Given the description of an element on the screen output the (x, y) to click on. 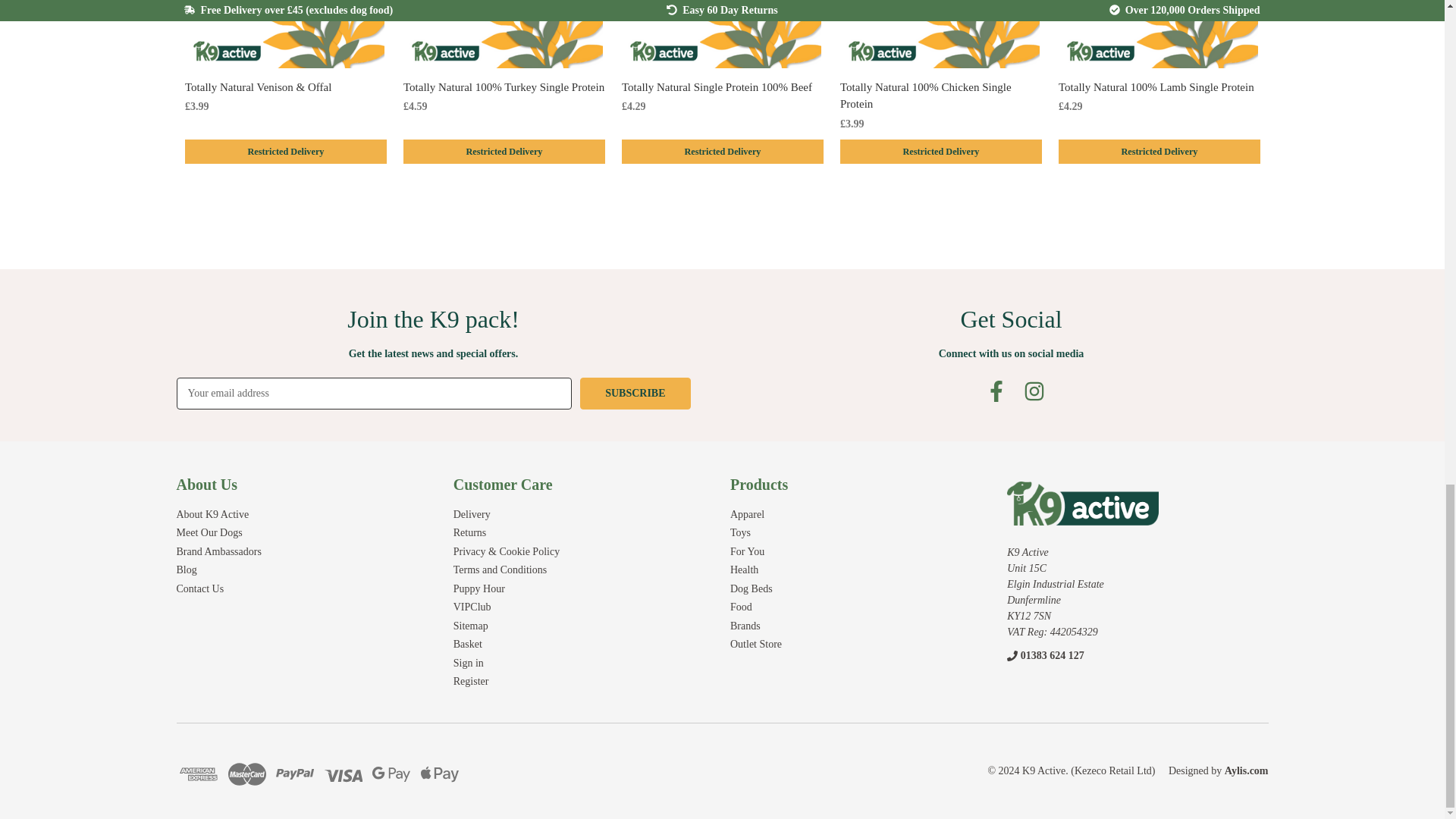
Subscribe (634, 393)
